Given the description of an element on the screen output the (x, y) to click on. 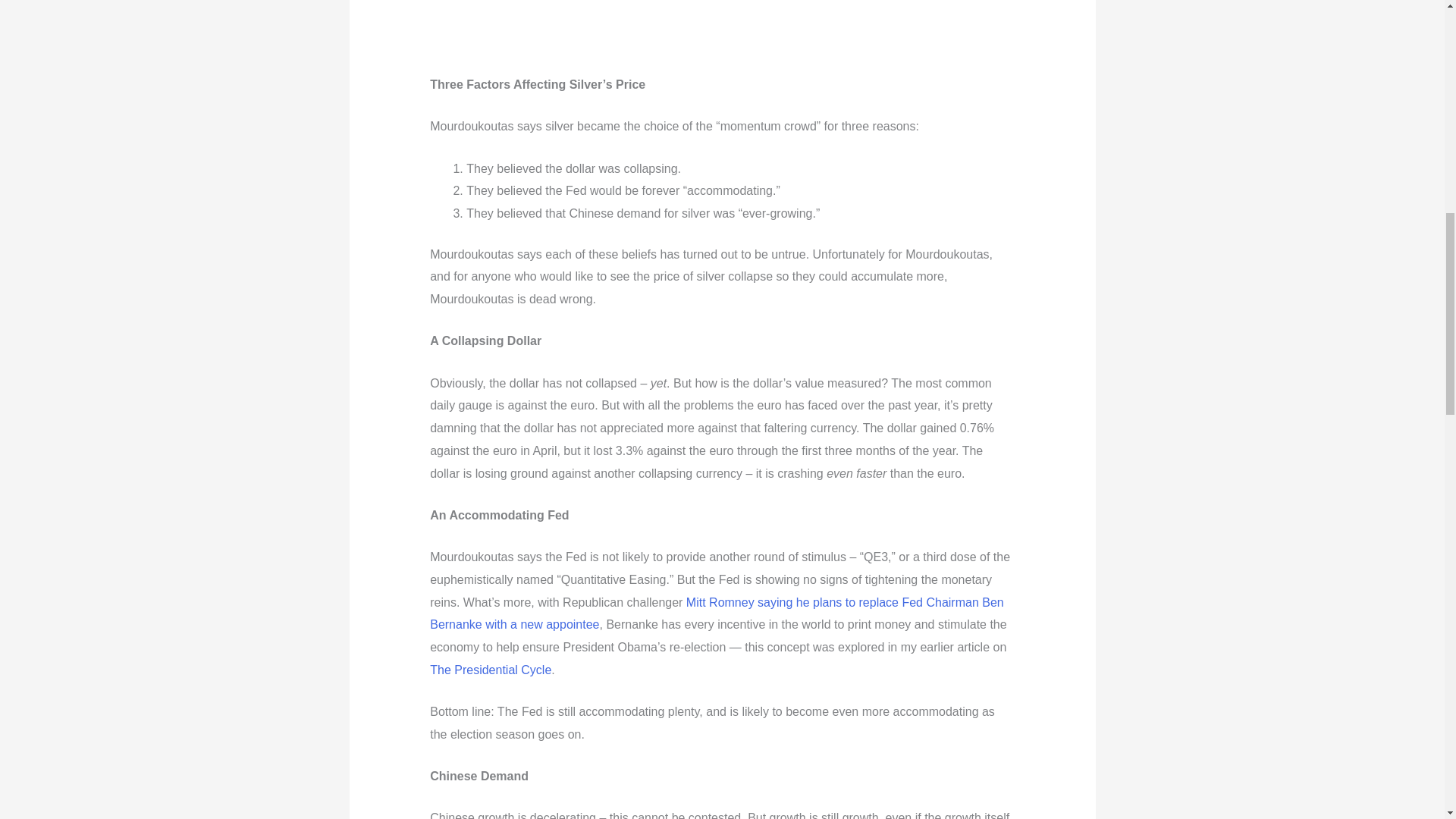
The Presidential Cycle (490, 669)
